Given the description of an element on the screen output the (x, y) to click on. 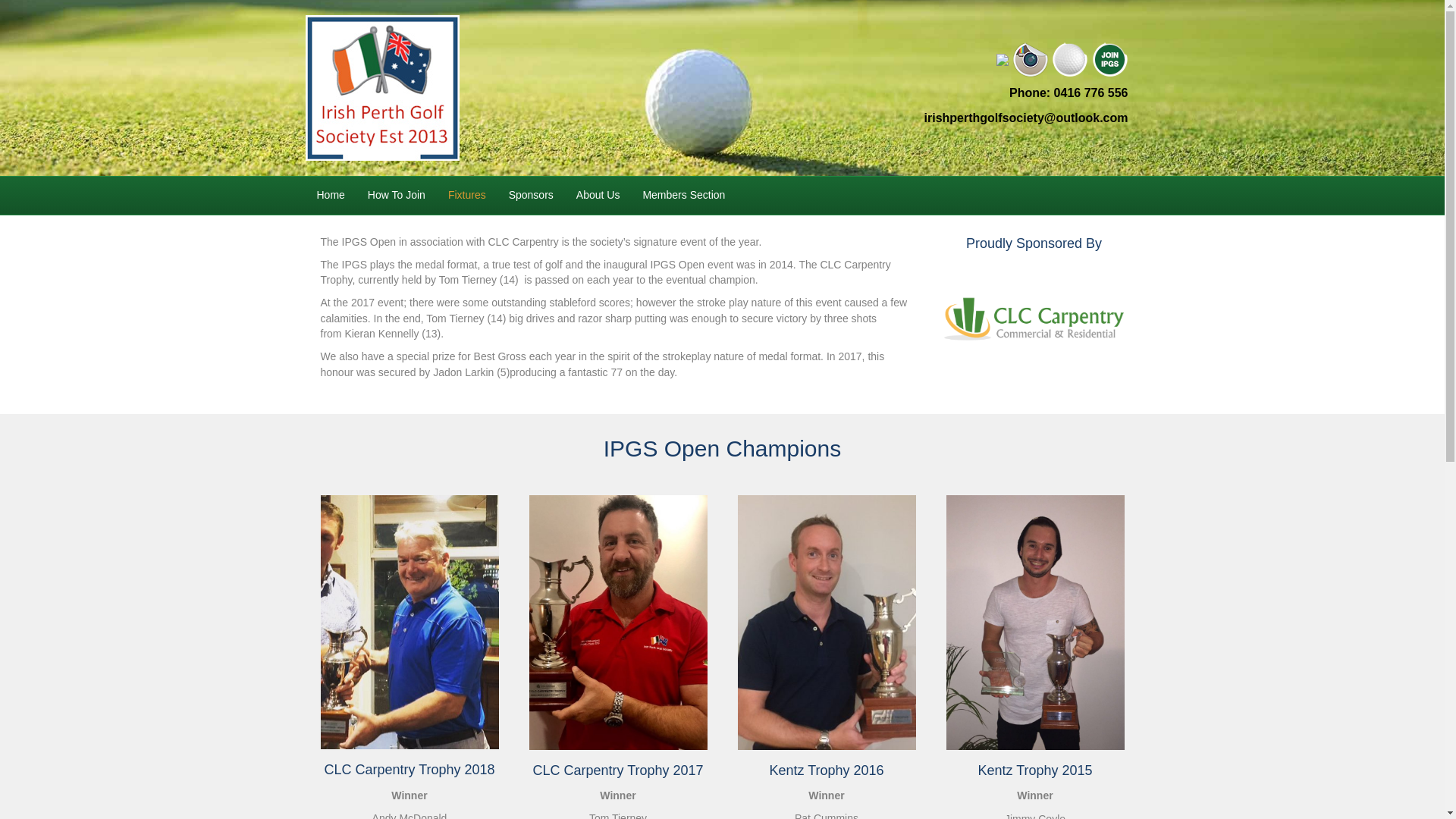
4595588123_305x185 Element type: hover (1034, 318)
Members Section Element type: text (683, 195)
irishperthgolfsociety@outlook.com Element type: text (1026, 117)
JCoyle Element type: hover (1035, 622)
FullSizeRender Element type: hover (618, 622)
About Us Element type: text (597, 195)
IMG_7771 Element type: hover (826, 622)
Fixtures Element type: text (466, 195)
How To Join Element type: text (396, 195)
Sponsors Element type: text (530, 195)
Home Element type: text (329, 195)
Andy Mc Element type: hover (409, 622)
